Given the description of an element on the screen output the (x, y) to click on. 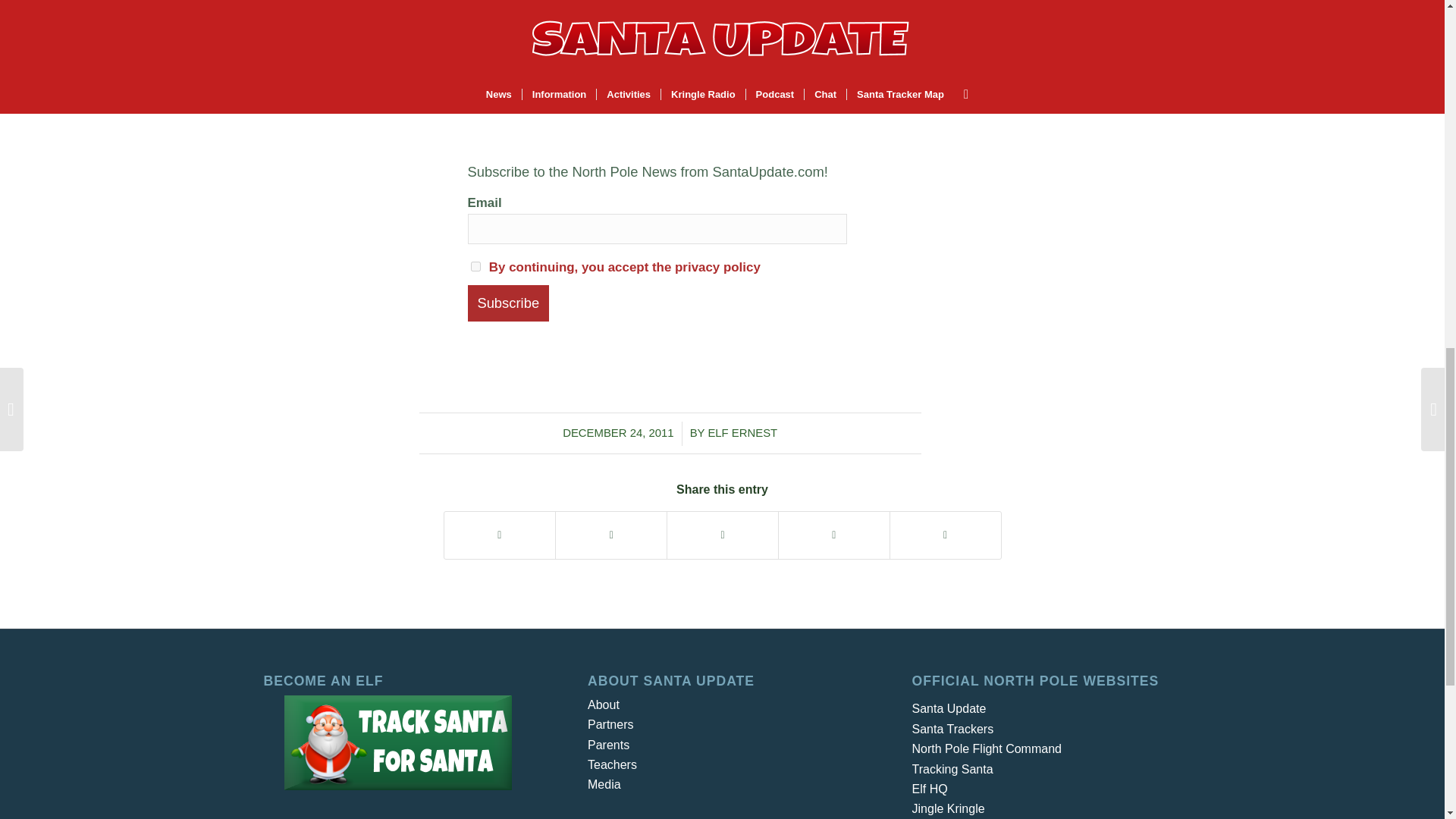
on (475, 266)
Become an Elf (397, 742)
Subscribe (507, 303)
Posts by Elf Ernest (742, 432)
44 (721, 47)
